Given the description of an element on the screen output the (x, y) to click on. 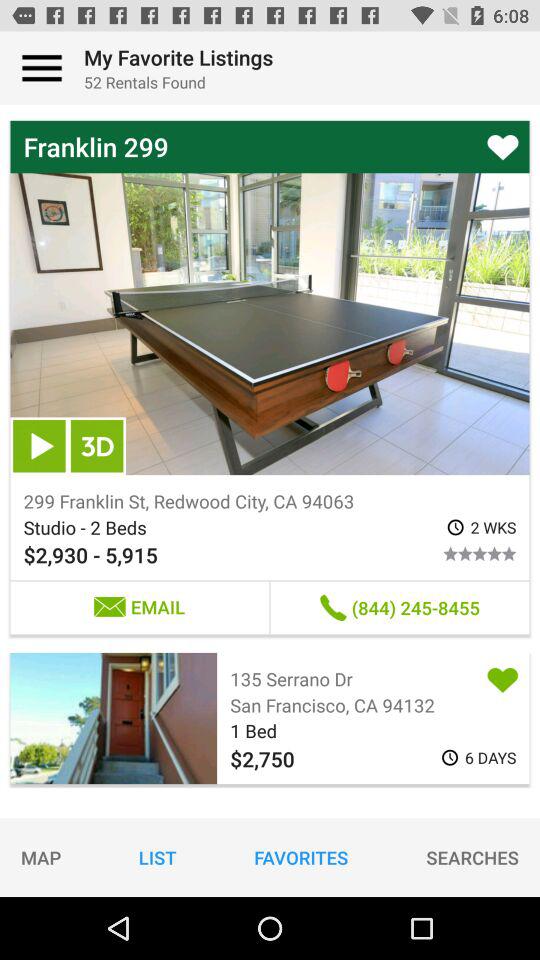
turn off icon to the right of favorites item (472, 857)
